Given the description of an element on the screen output the (x, y) to click on. 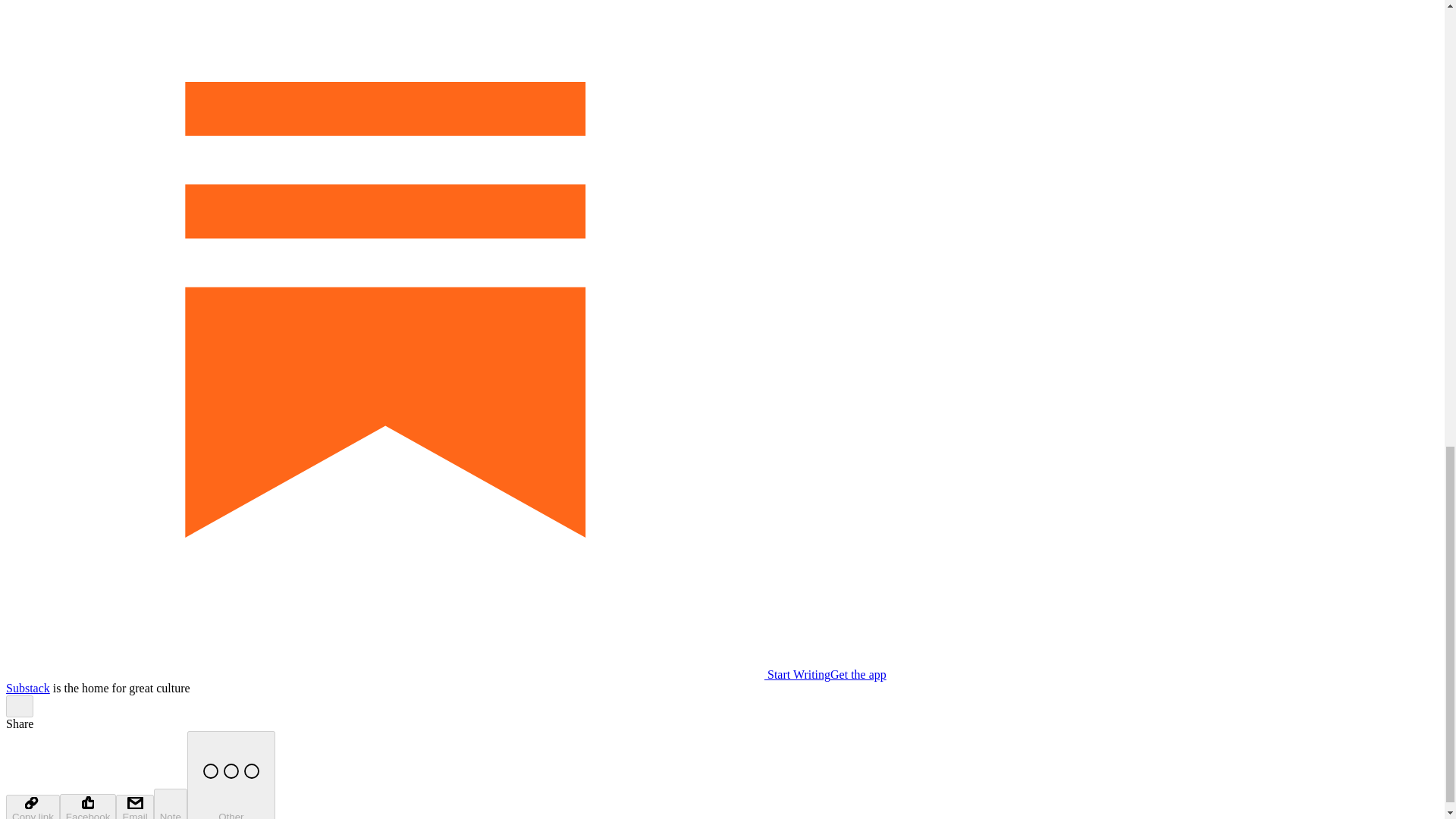
Substack (27, 687)
Get the app (857, 674)
Start Writing (417, 674)
